Given the description of an element on the screen output the (x, y) to click on. 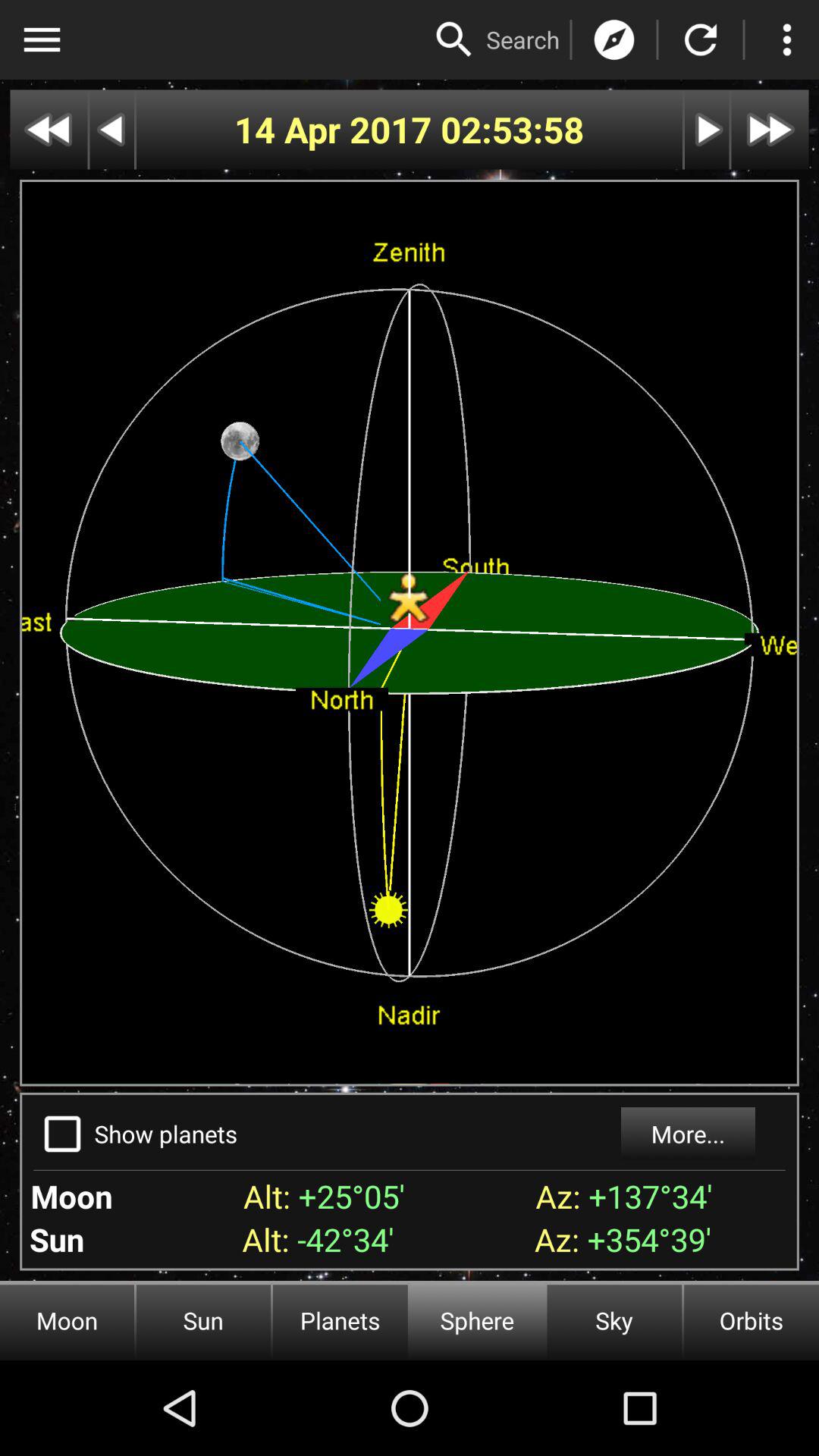
go back (48, 129)
